Given the description of an element on the screen output the (x, y) to click on. 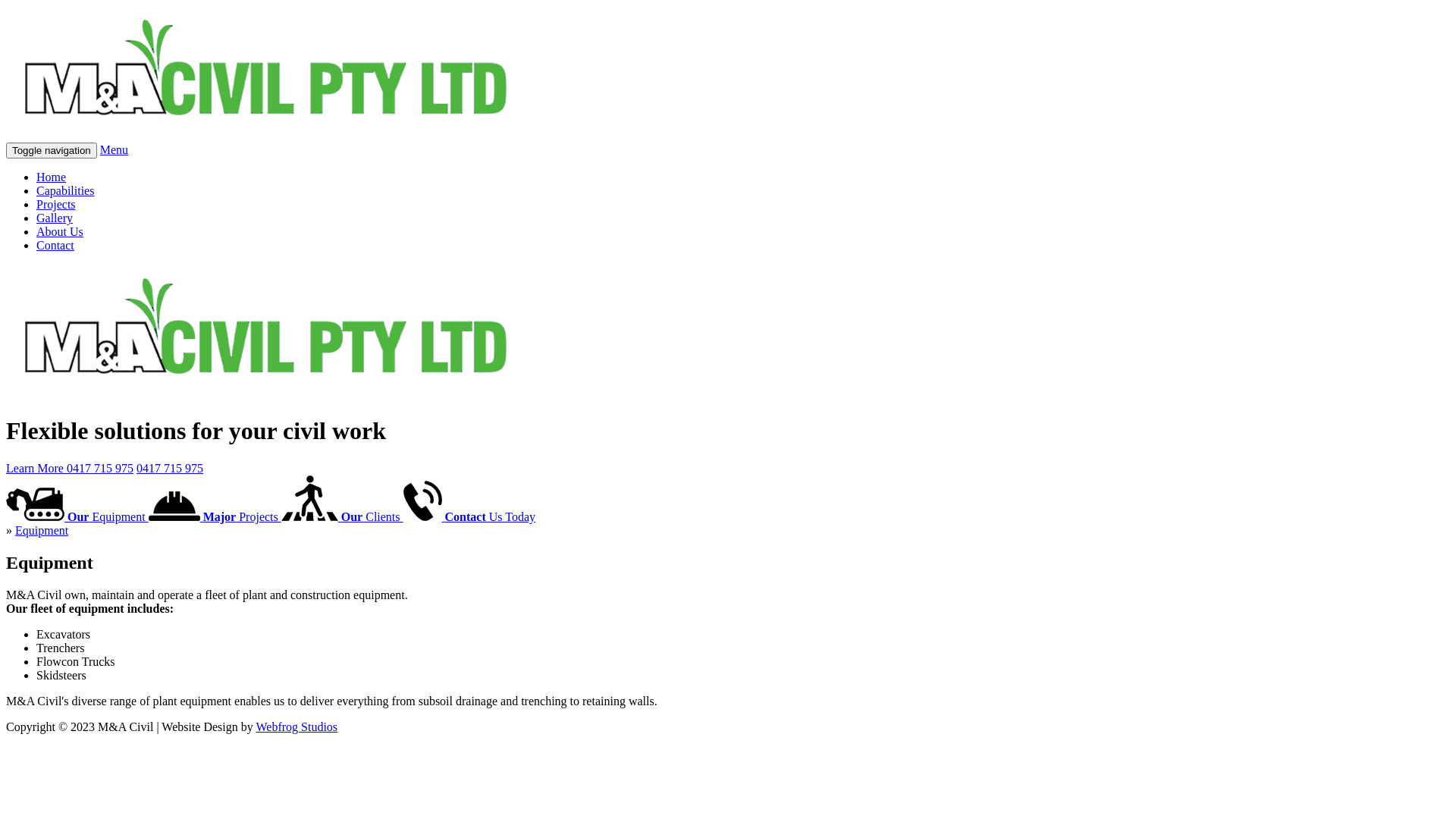
0417 715 975 Element type: text (99, 467)
Equipment Element type: text (41, 530)
Gallery Element type: text (54, 217)
Webfrog Studios Element type: text (297, 726)
Capabilities Element type: text (65, 190)
Major Projects Element type: text (214, 516)
About Us Element type: text (59, 231)
Learn More Element type: text (36, 467)
Menu Element type: text (114, 149)
Our Clients Element type: text (342, 516)
Contact Us Today Element type: text (469, 516)
Contact Element type: text (55, 244)
Home Element type: text (50, 176)
Our Equipment Element type: text (77, 516)
Toggle navigation Element type: text (51, 150)
Projects Element type: text (55, 203)
0417 715 975 Element type: text (169, 467)
